Given the description of an element on the screen output the (x, y) to click on. 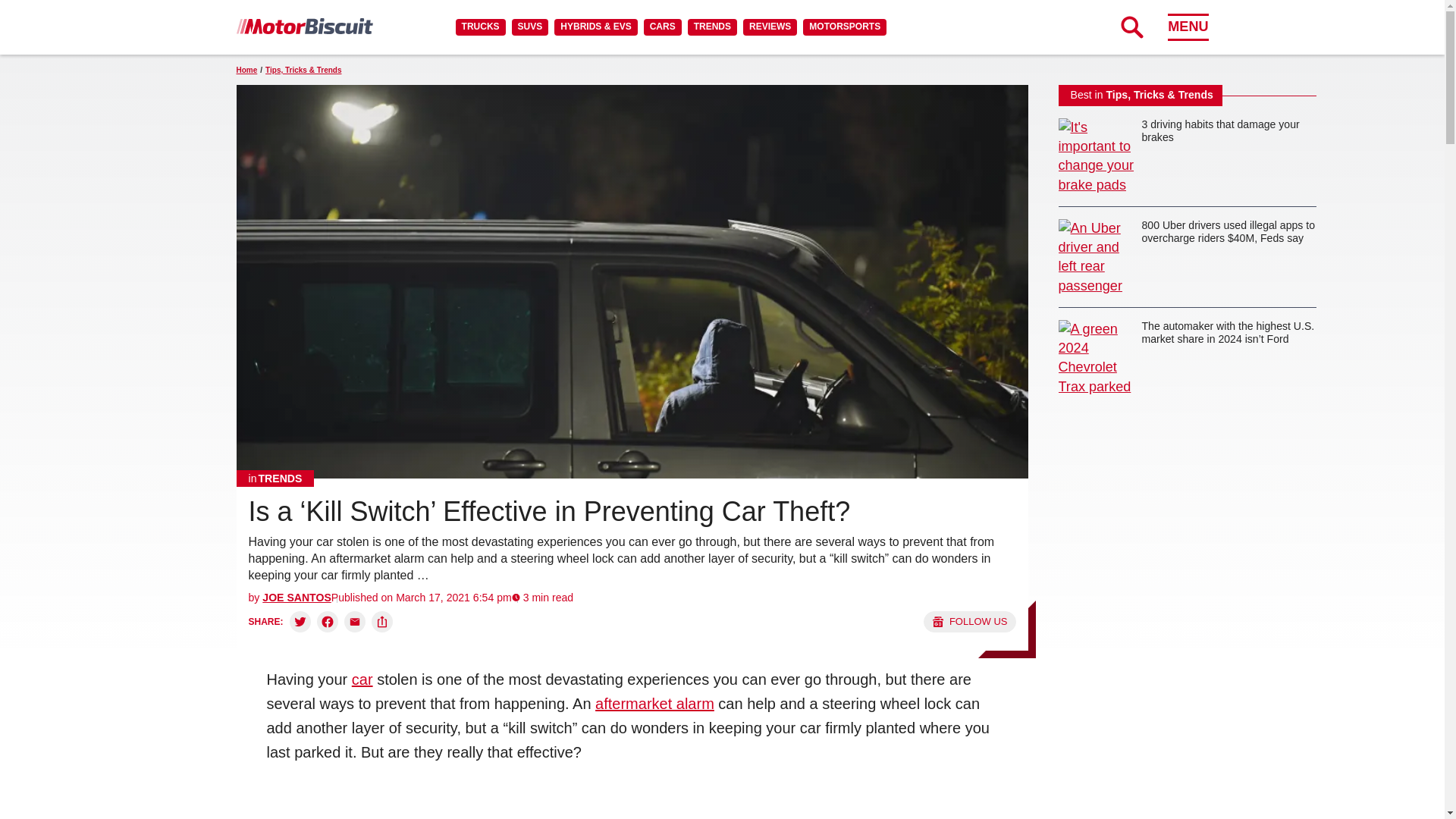
Expand Search (1131, 26)
TRUCKS (480, 26)
Trends (274, 478)
MOTORSPORTS (844, 26)
MotorBiscuit (303, 26)
MENU (1187, 26)
SUVS (530, 26)
Copy link and share:  (382, 621)
Follow us on Google News (969, 621)
